Given the description of an element on the screen output the (x, y) to click on. 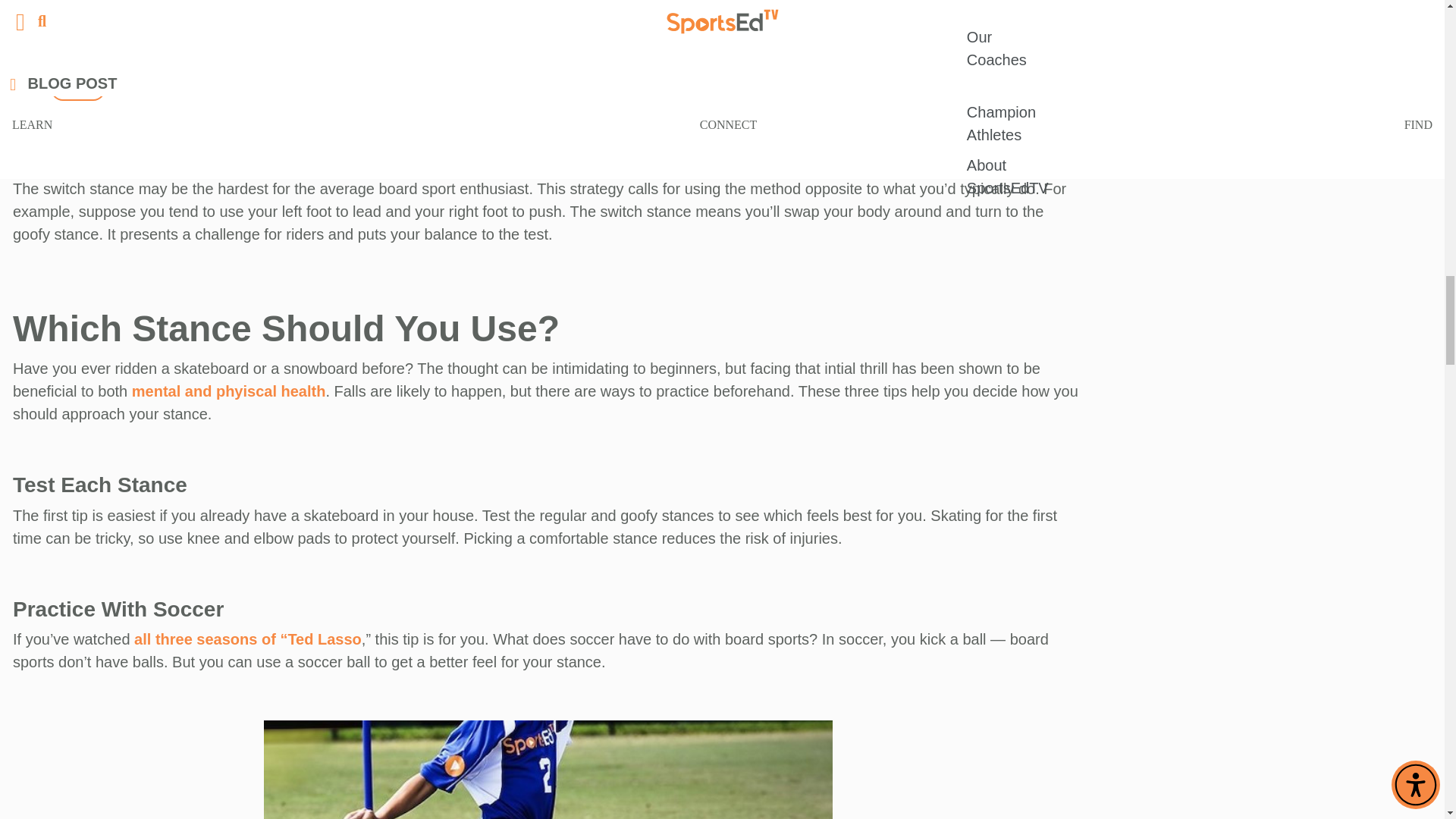
mental and phyiscal health (229, 391)
Hawk confirmed he is goofy-footed (543, 43)
